Given the description of an element on the screen output the (x, y) to click on. 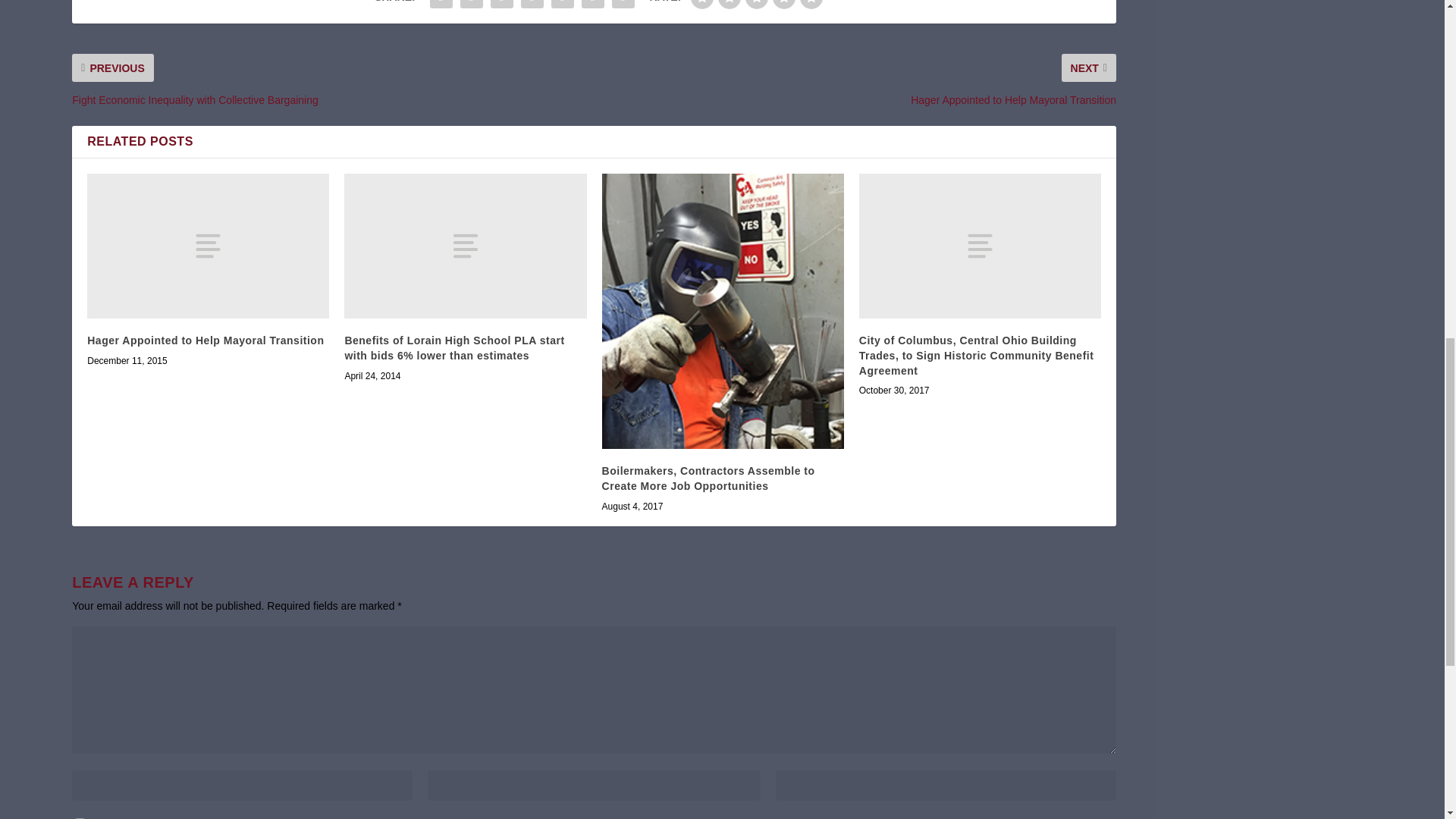
good (783, 4)
regular (756, 4)
poor (729, 4)
gorgeous (810, 4)
bad (701, 4)
